Given the description of an element on the screen output the (x, y) to click on. 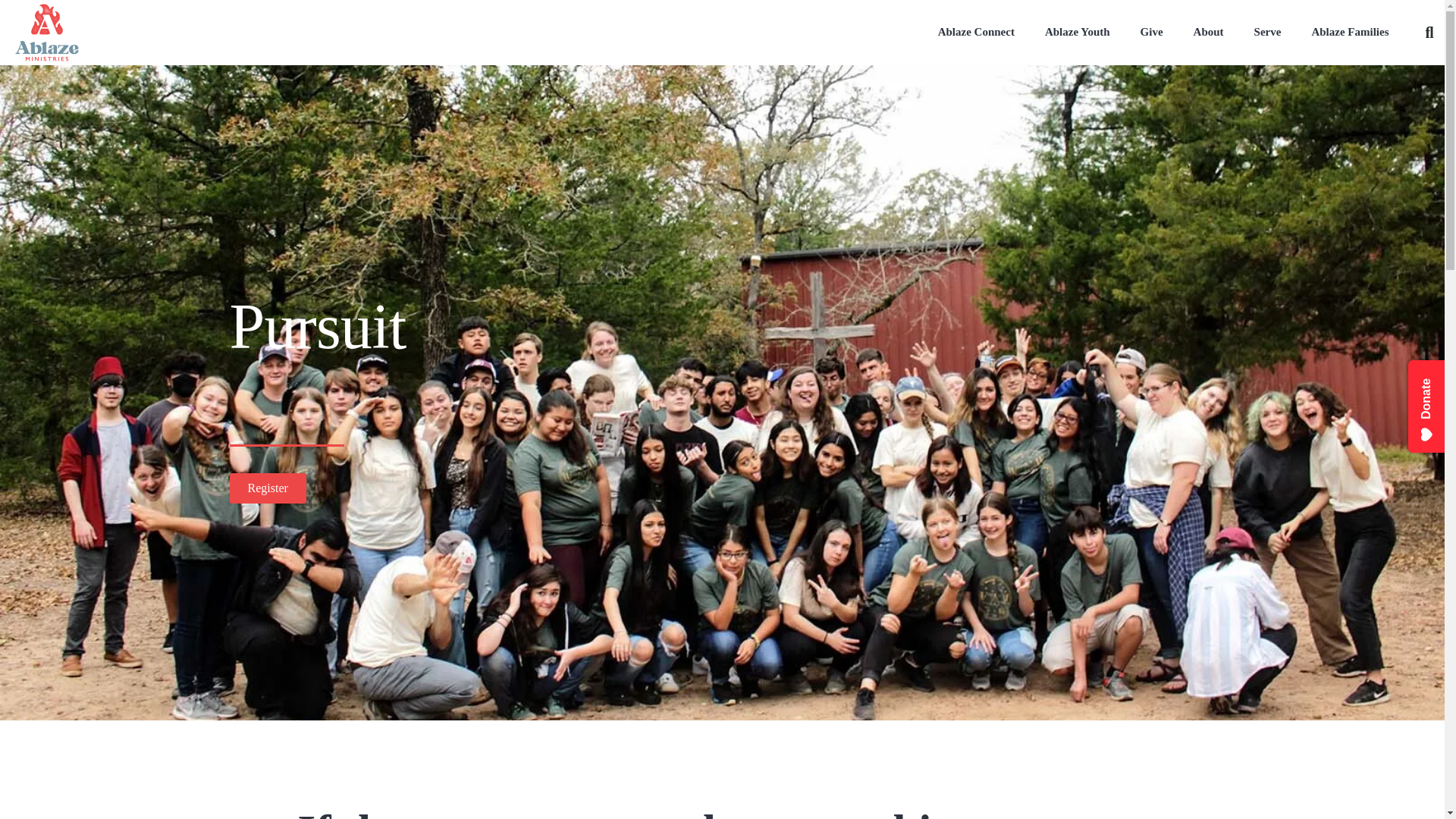
Give (1151, 31)
Register (266, 488)
Ablaze Families (1349, 31)
Ablaze Youth (1077, 31)
Serve (1268, 31)
Ablaze Connect (976, 31)
About (1208, 31)
